Given the description of an element on the screen output the (x, y) to click on. 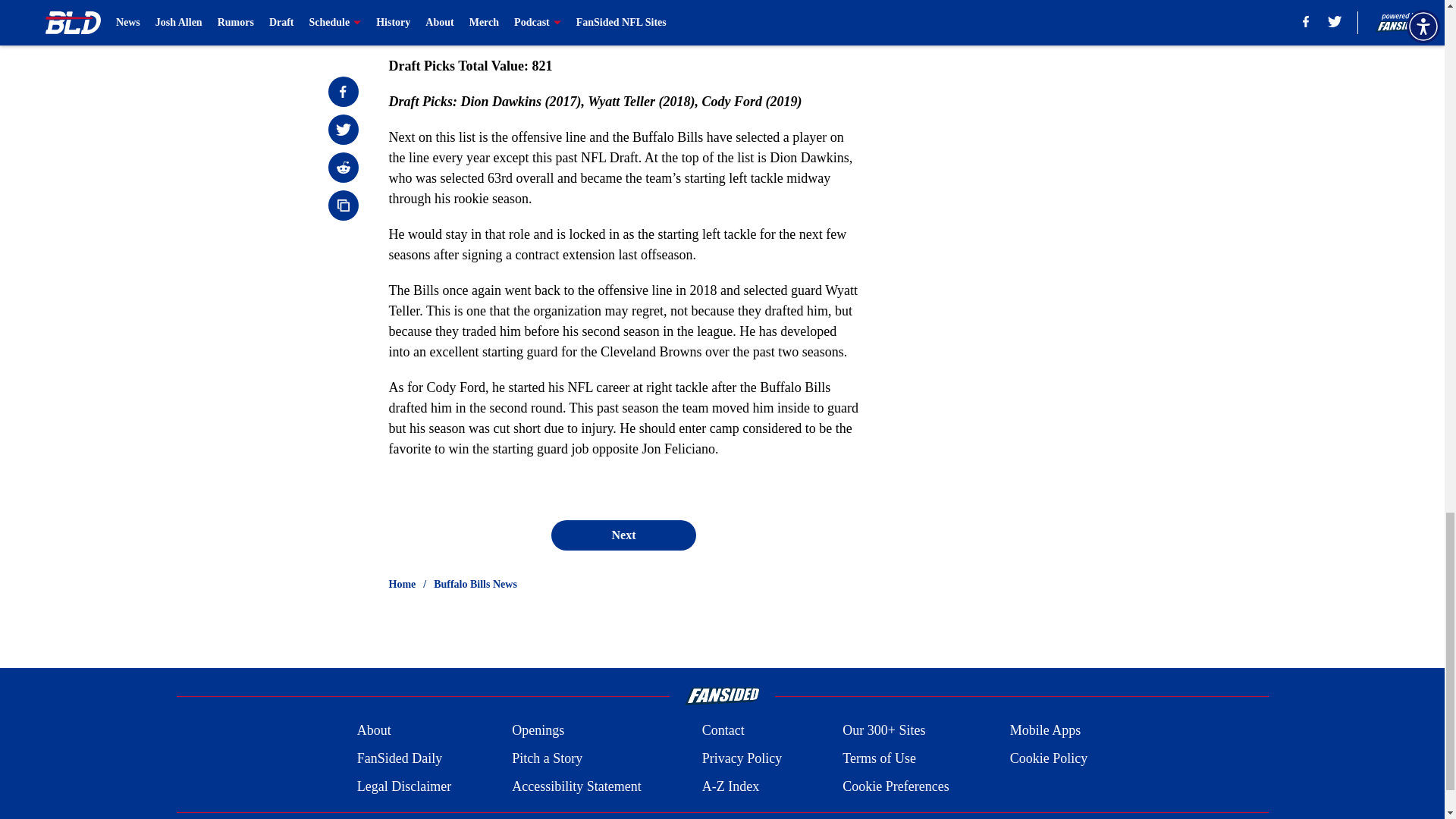
Buffalo Bills News (474, 584)
Home (401, 584)
Openings (538, 730)
Terms of Use (879, 758)
Next (622, 535)
Contact (722, 730)
Mobile Apps (1045, 730)
Pitch a Story (547, 758)
About (373, 730)
Privacy Policy (742, 758)
